Given the description of an element on the screen output the (x, y) to click on. 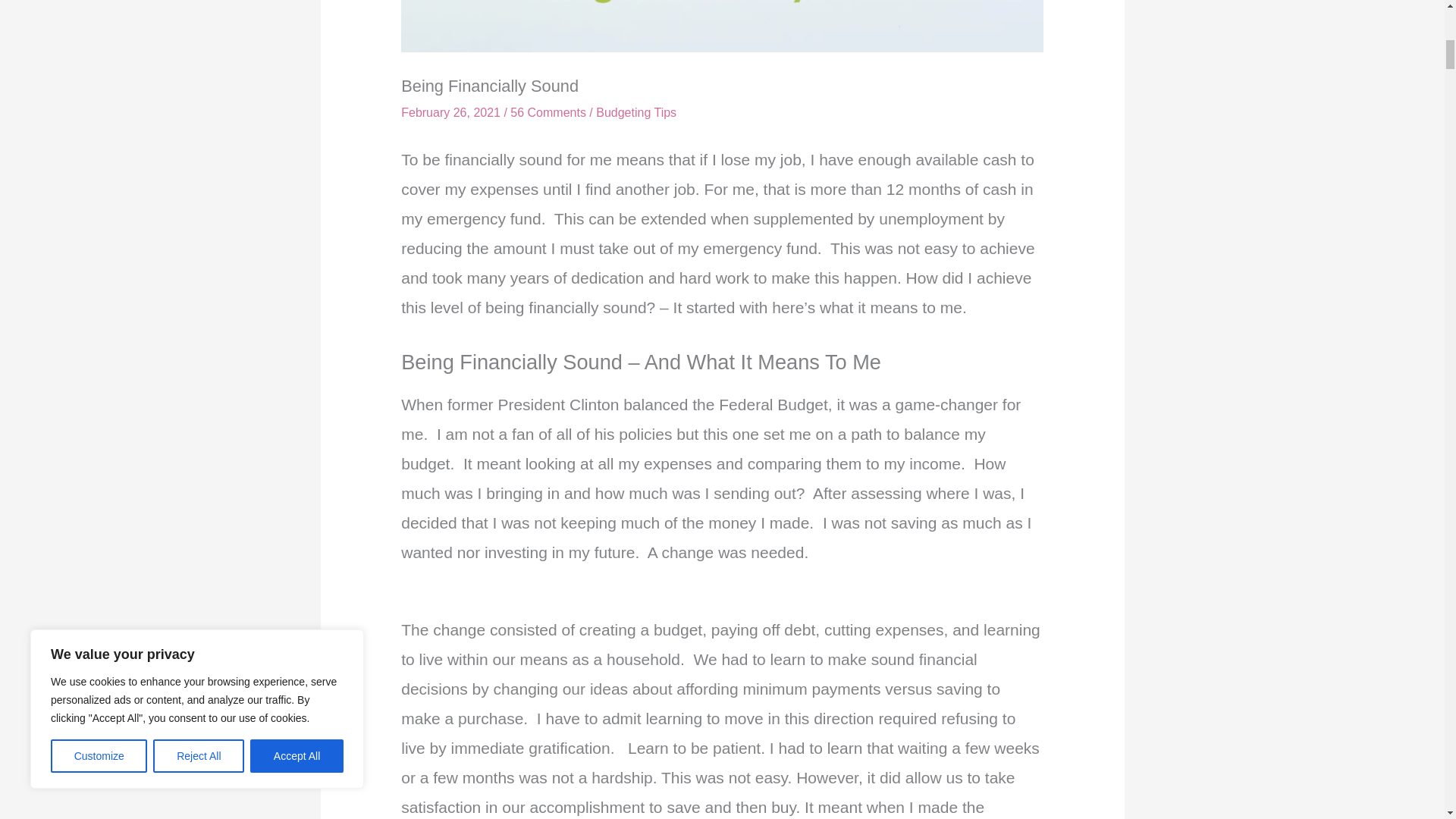
56 Comments (548, 112)
Budgeting Tips (636, 112)
